Given the description of an element on the screen output the (x, y) to click on. 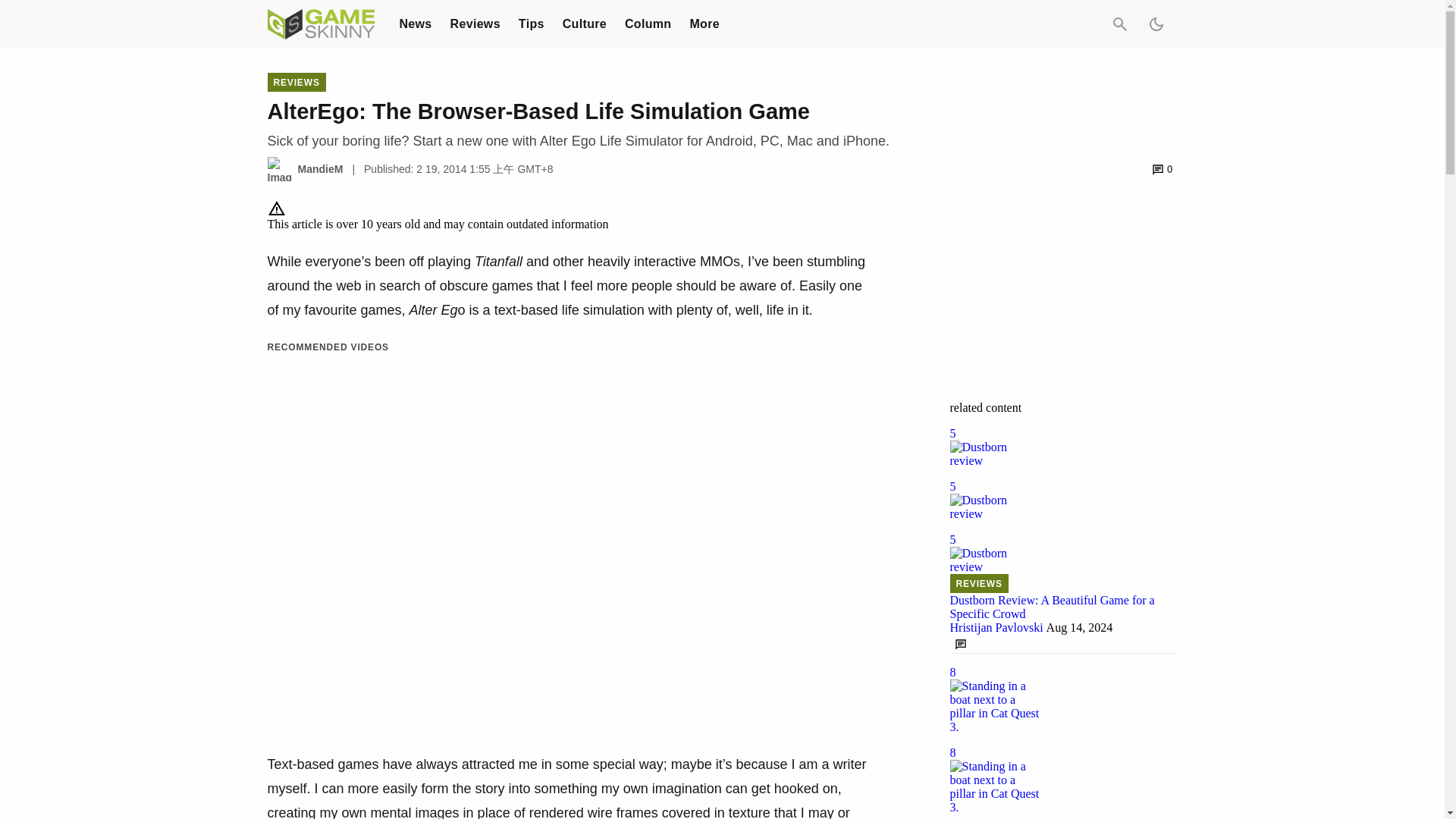
Column (647, 23)
Search (1118, 24)
Tips (531, 23)
Reviews (474, 23)
Culture (584, 23)
News (414, 23)
Dark Mode (1155, 24)
